Given the description of an element on the screen output the (x, y) to click on. 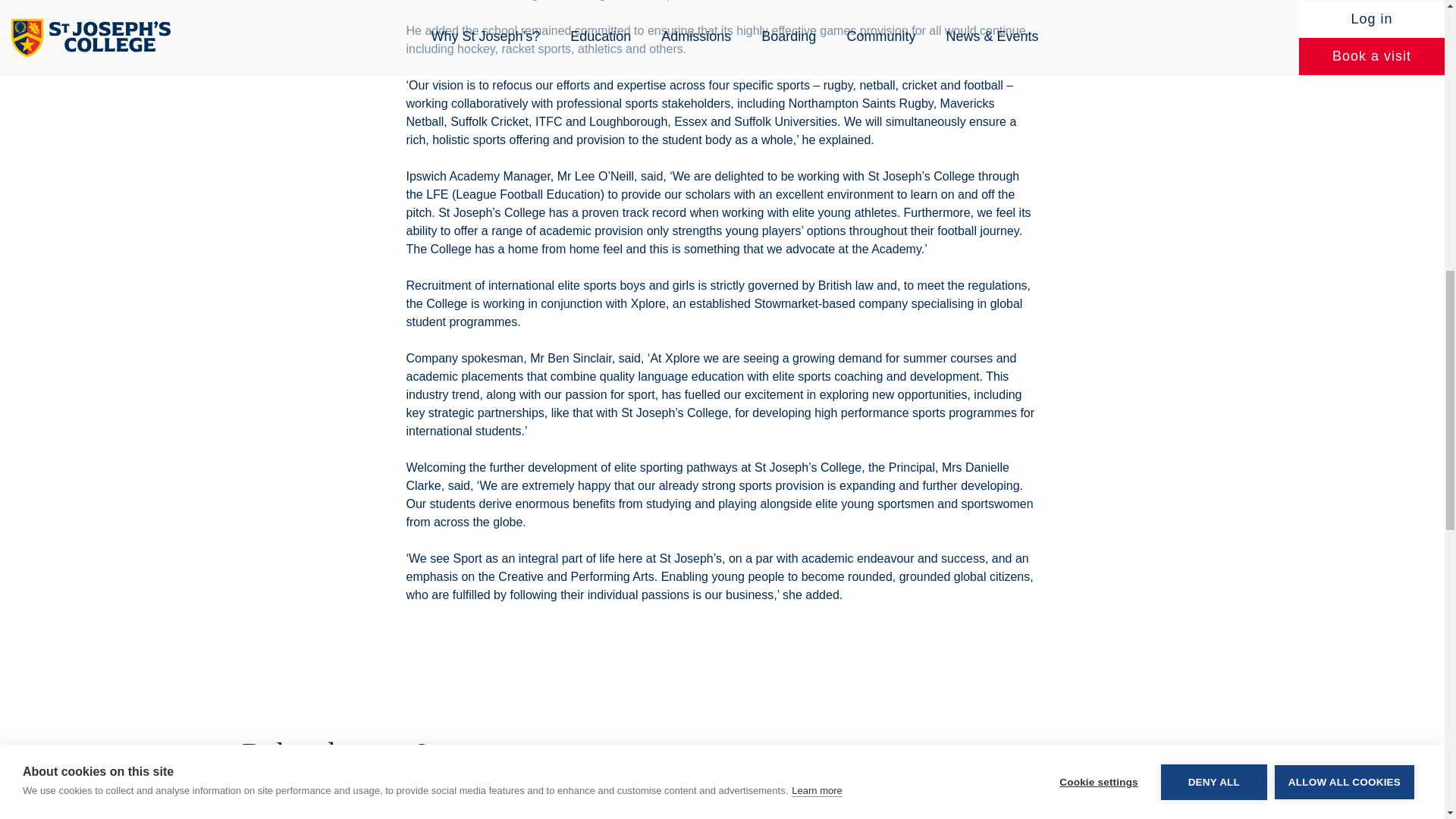
Cookie settings (1098, 10)
DENY ALL (1213, 2)
Learn more (816, 20)
